Given the description of an element on the screen output the (x, y) to click on. 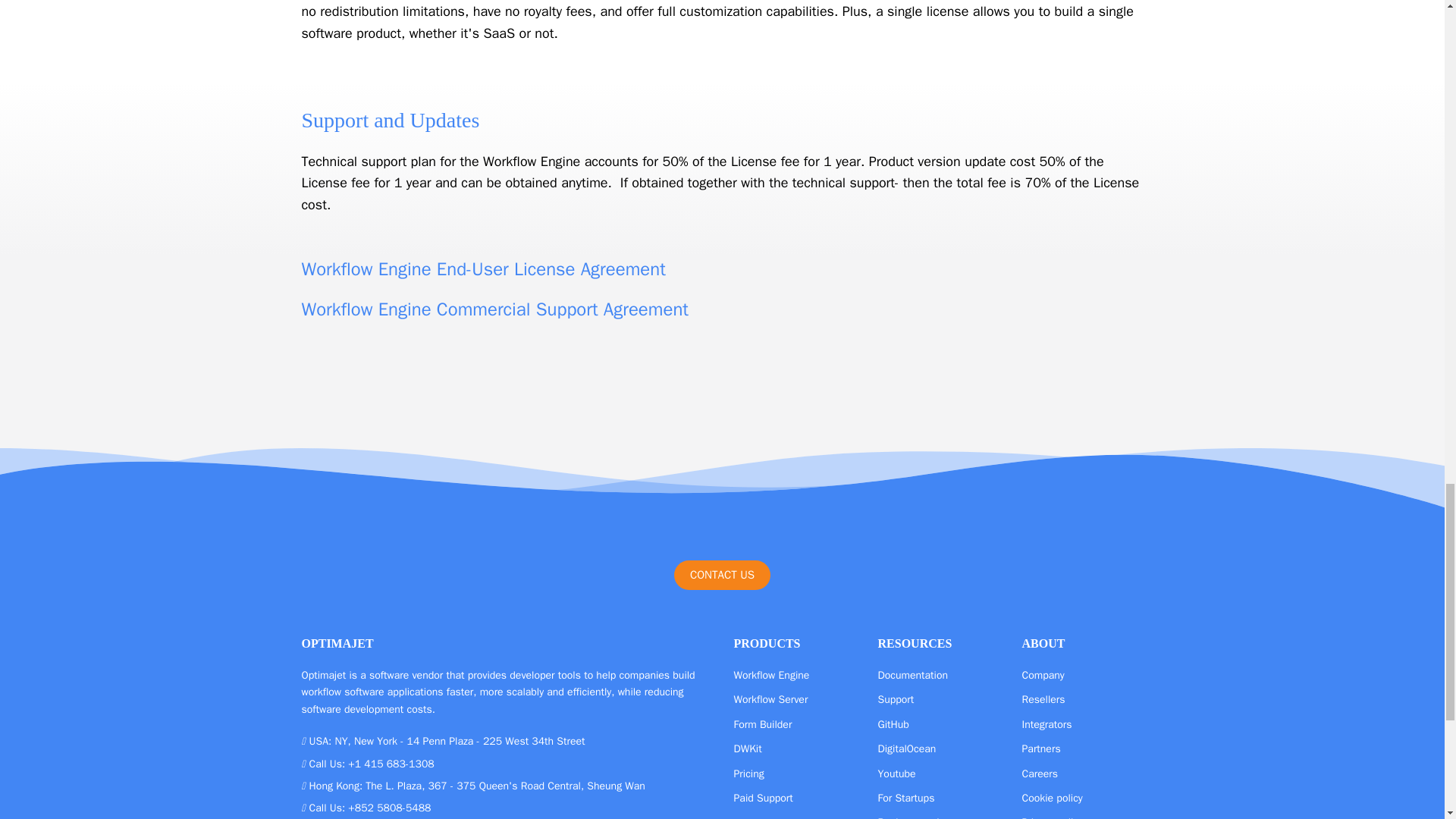
Partners (1041, 748)
CONTACT US (722, 574)
Workflow Engine (771, 675)
Form Builder (762, 724)
GitHub (892, 724)
Workflow Engine Commercial Support Agreement (494, 309)
Careers (1040, 773)
For Startups (905, 797)
Documentation (913, 675)
Pricing (748, 773)
Support (895, 698)
Book a meeting (913, 817)
Workflow Server (770, 698)
Company (1043, 675)
Resellers (1043, 698)
